Given the description of an element on the screen output the (x, y) to click on. 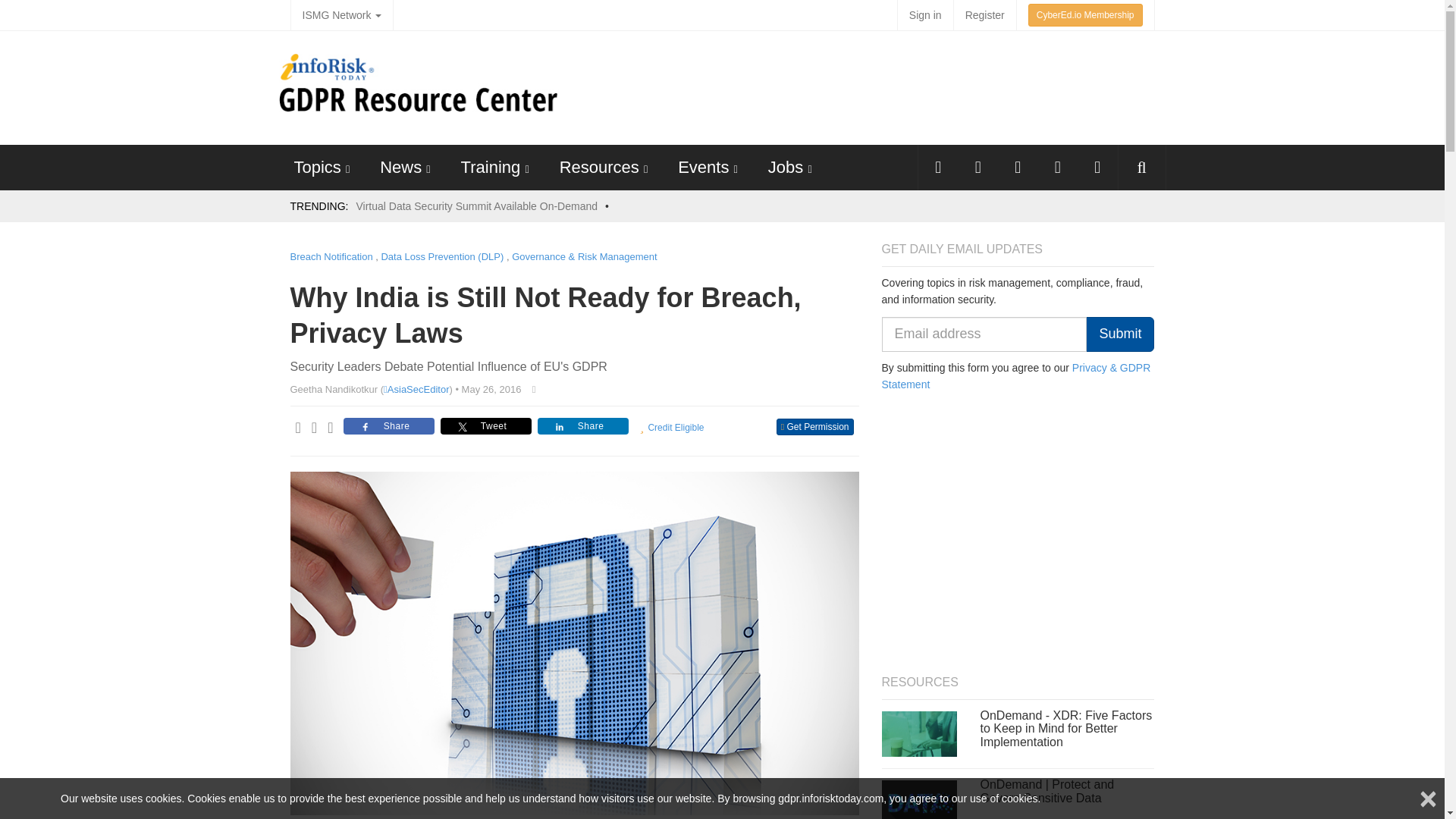
CyberEd.io Membership (1084, 15)
ISMG Network (341, 15)
3rd party ad content (873, 88)
Register (984, 15)
Topics (317, 167)
News (401, 167)
Sign in (925, 15)
